Given the description of an element on the screen output the (x, y) to click on. 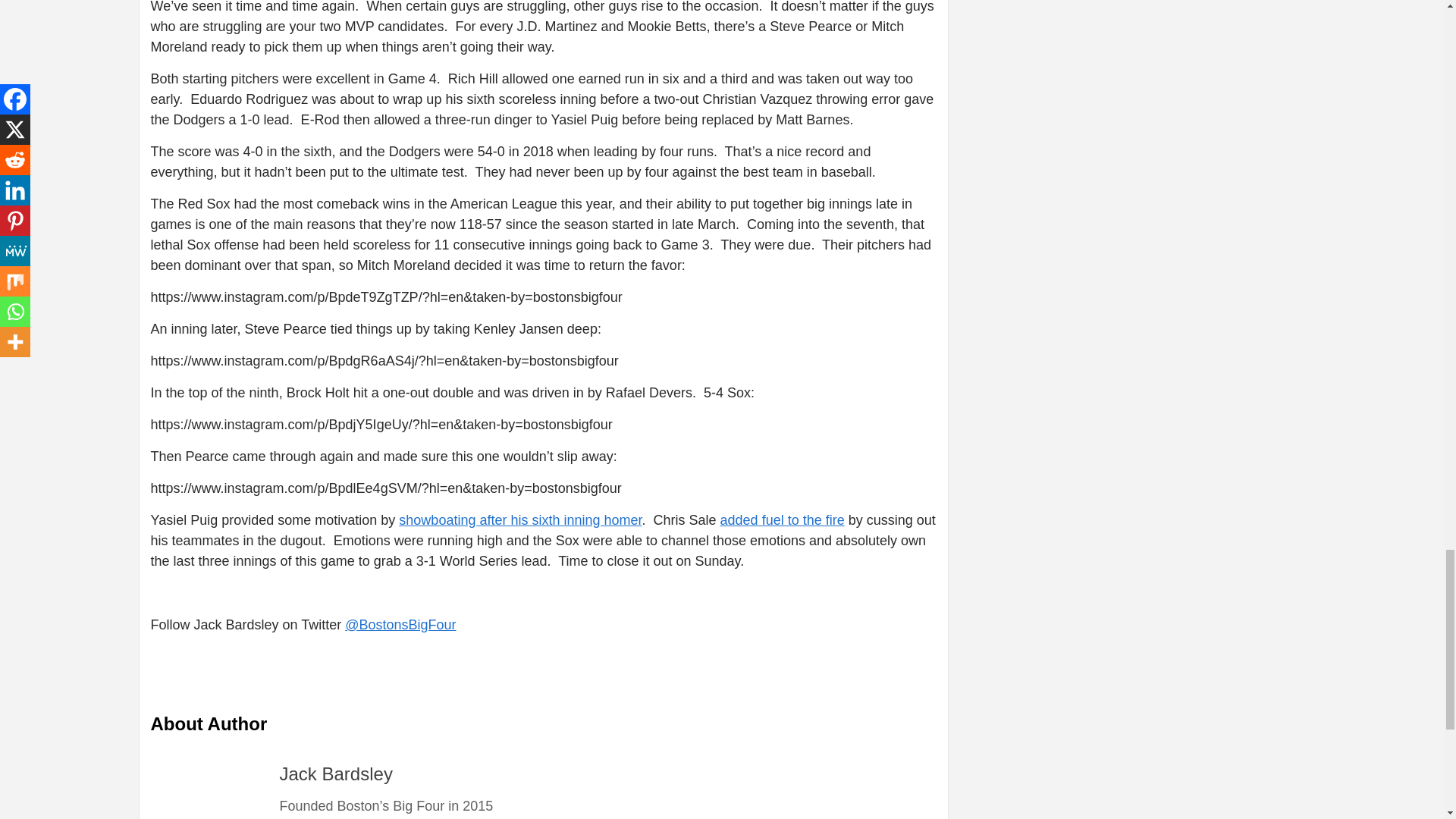
added fuel to the fire (782, 519)
Jack Bardsley (335, 773)
showboating after his sixth inning homer (520, 519)
